Given the description of an element on the screen output the (x, y) to click on. 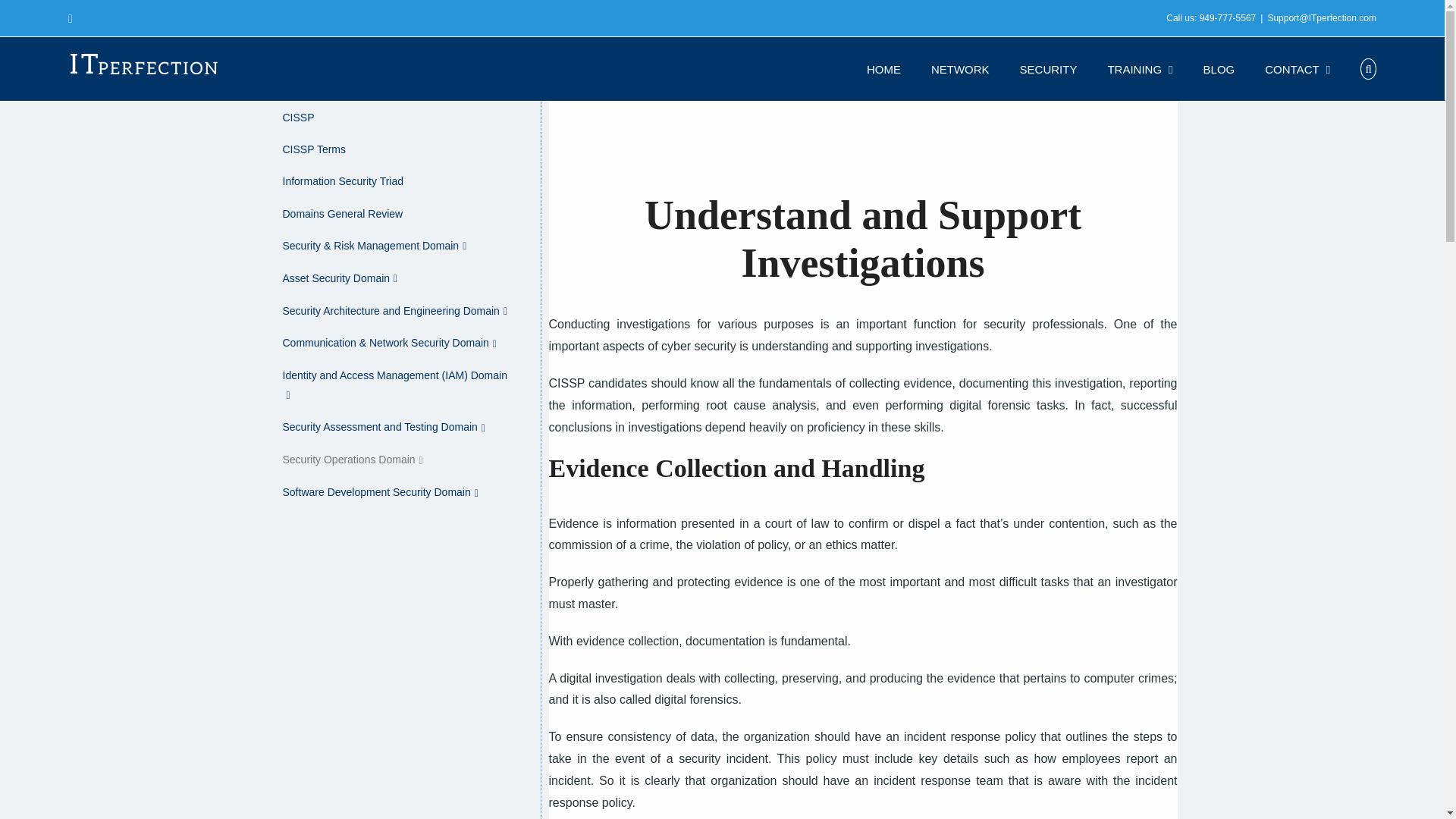
Domains General Review (393, 214)
TRAINING (1139, 68)
CISSP Terms (393, 150)
NETWORK (960, 68)
Information Security Triad (393, 182)
Asset Security Domain (393, 278)
SECURITY (1048, 68)
CONTACT (1297, 68)
CISSP (393, 118)
